Given the description of an element on the screen output the (x, y) to click on. 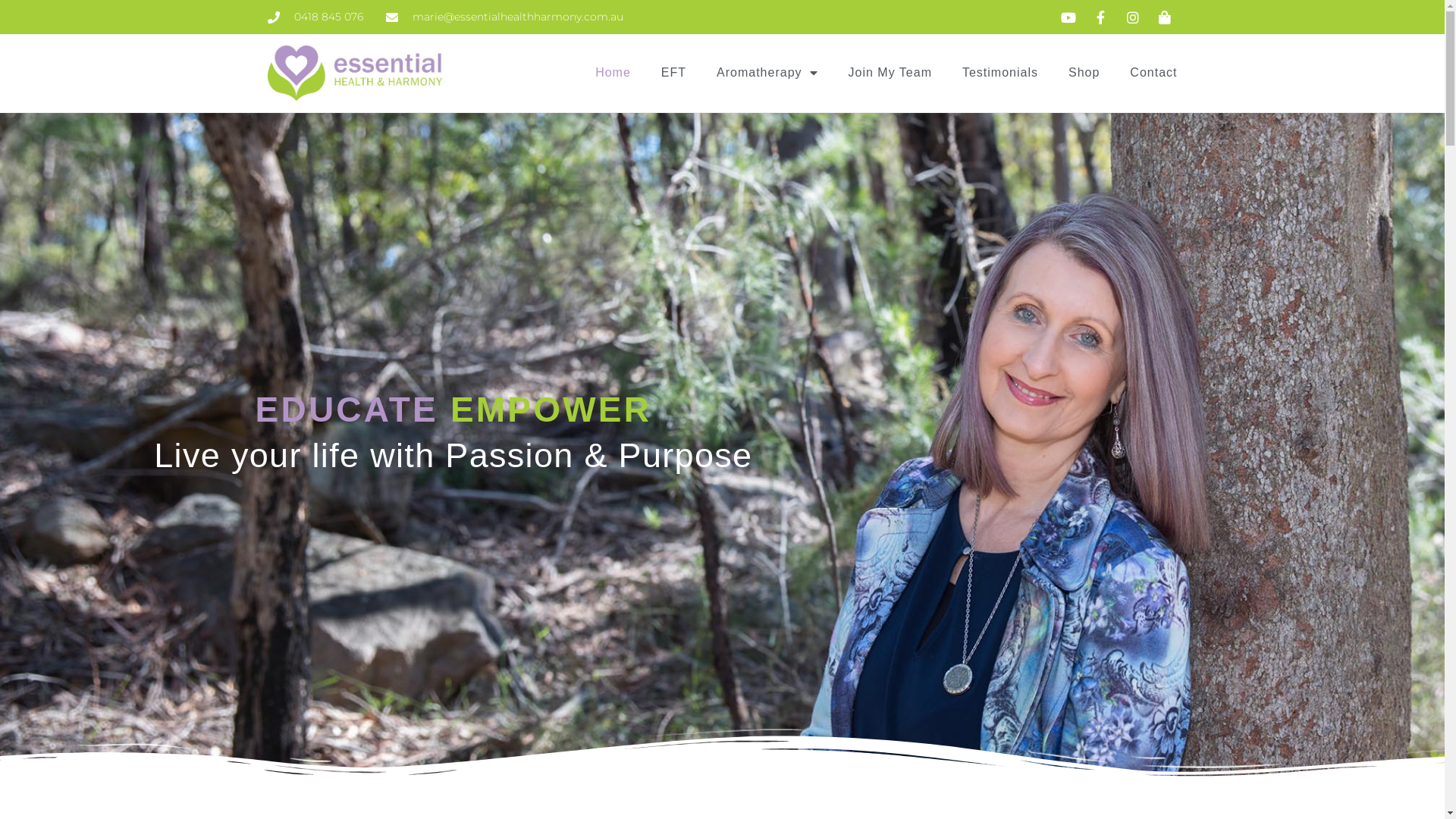
EFT Element type: text (673, 72)
Home Element type: text (612, 72)
0418 845 076 Element type: text (314, 17)
Testimonials Element type: text (1000, 72)
marie@essentialhealthharmony.com.au Element type: text (503, 17)
Contact Element type: text (1152, 72)
Aromatherapy Element type: text (767, 72)
Join My Team Element type: text (889, 72)
Shop Element type: text (1083, 72)
